Given the description of an element on the screen output the (x, y) to click on. 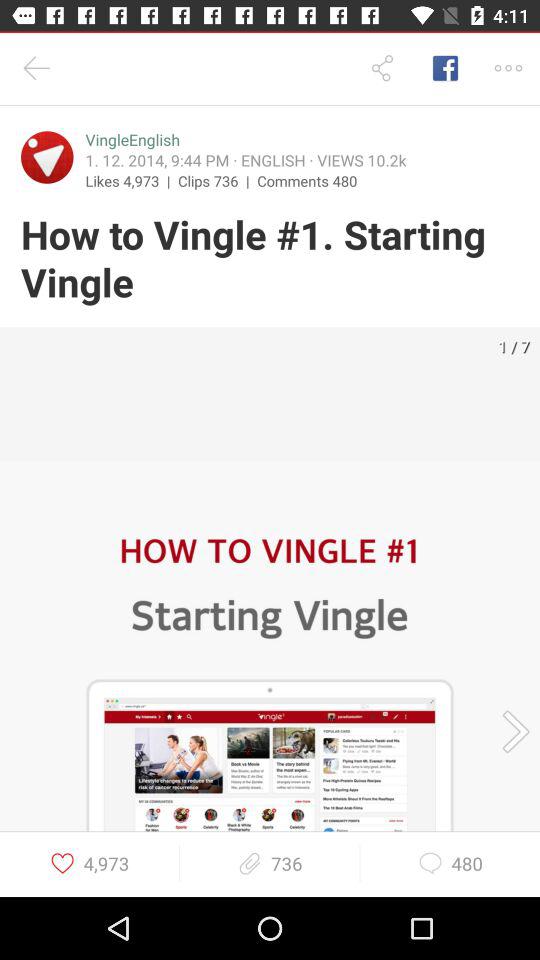
turn off icon above how to vingle icon (217, 180)
